Given the description of an element on the screen output the (x, y) to click on. 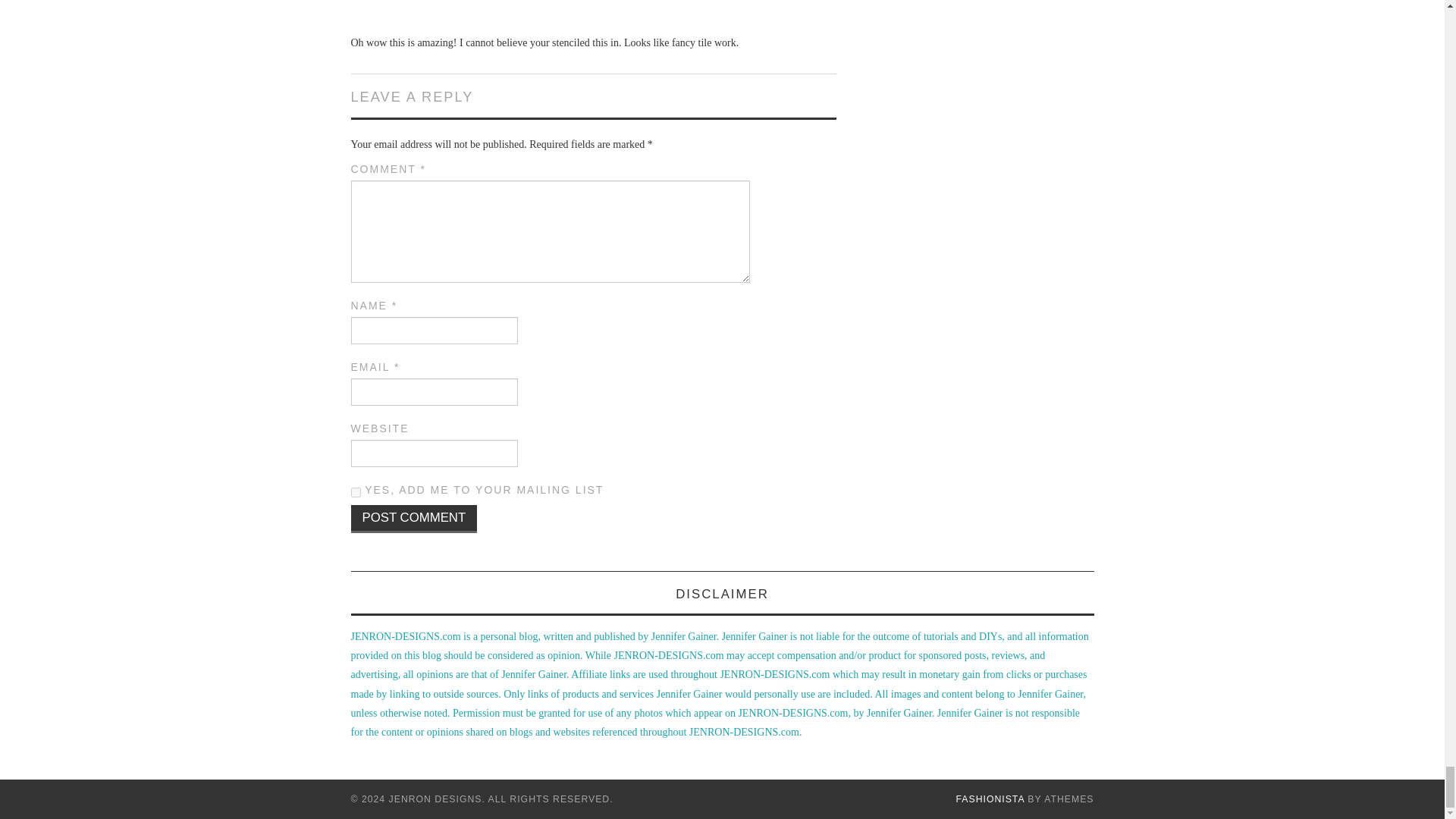
1 (354, 492)
Post Comment (413, 519)
